Given the description of an element on the screen output the (x, y) to click on. 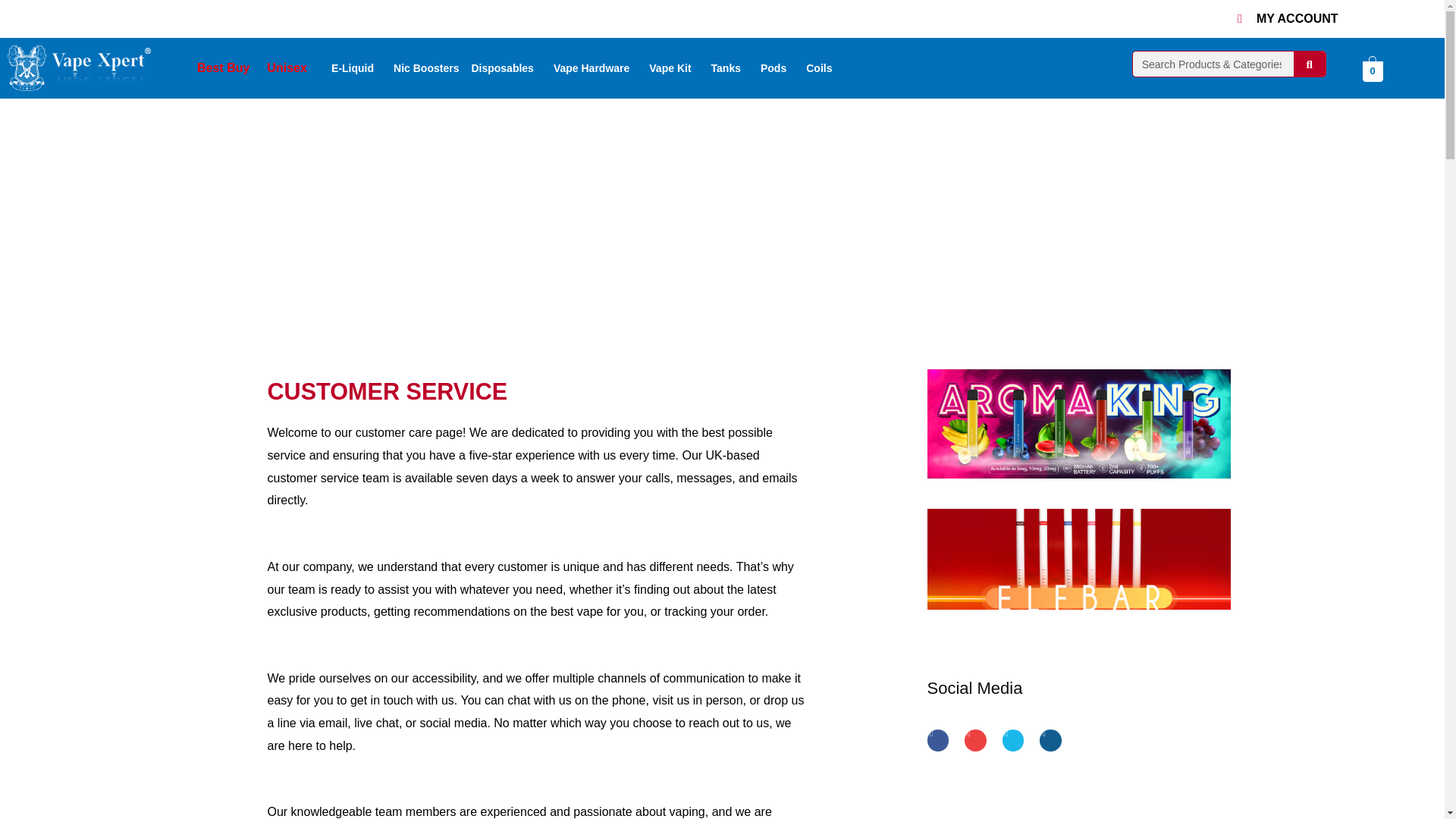
Vape Hardware (595, 68)
Pods (776, 68)
Tanks (729, 68)
Disposables (505, 68)
E-Liquid (355, 68)
Vape Kit (673, 68)
Unisex (286, 67)
Nic Boosters (425, 68)
View your shopping cart (1371, 70)
Best Buy (223, 67)
